Given the description of an element on the screen output the (x, y) to click on. 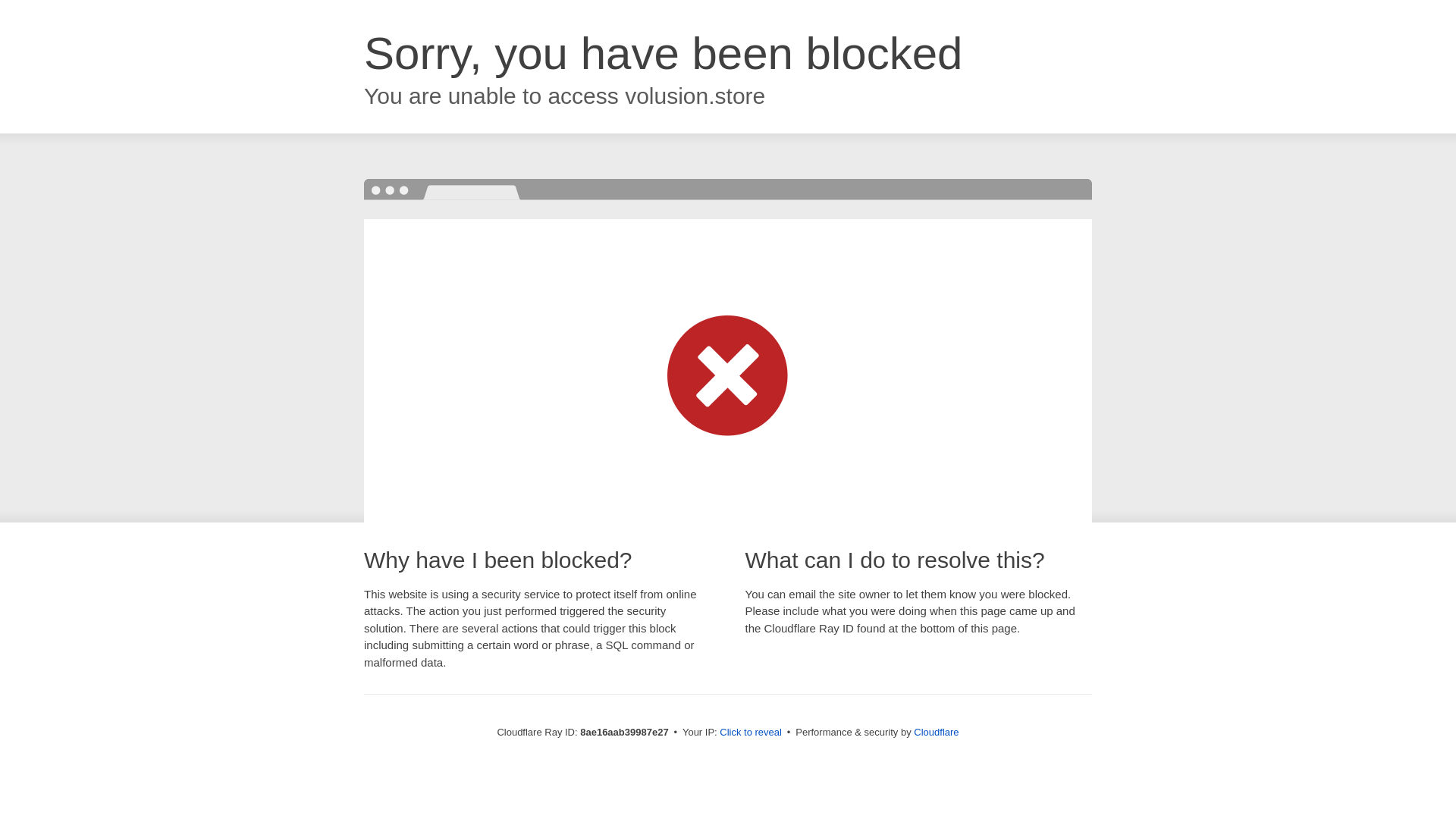
Click to reveal (750, 732)
Cloudflare (936, 731)
